Given the description of an element on the screen output the (x, y) to click on. 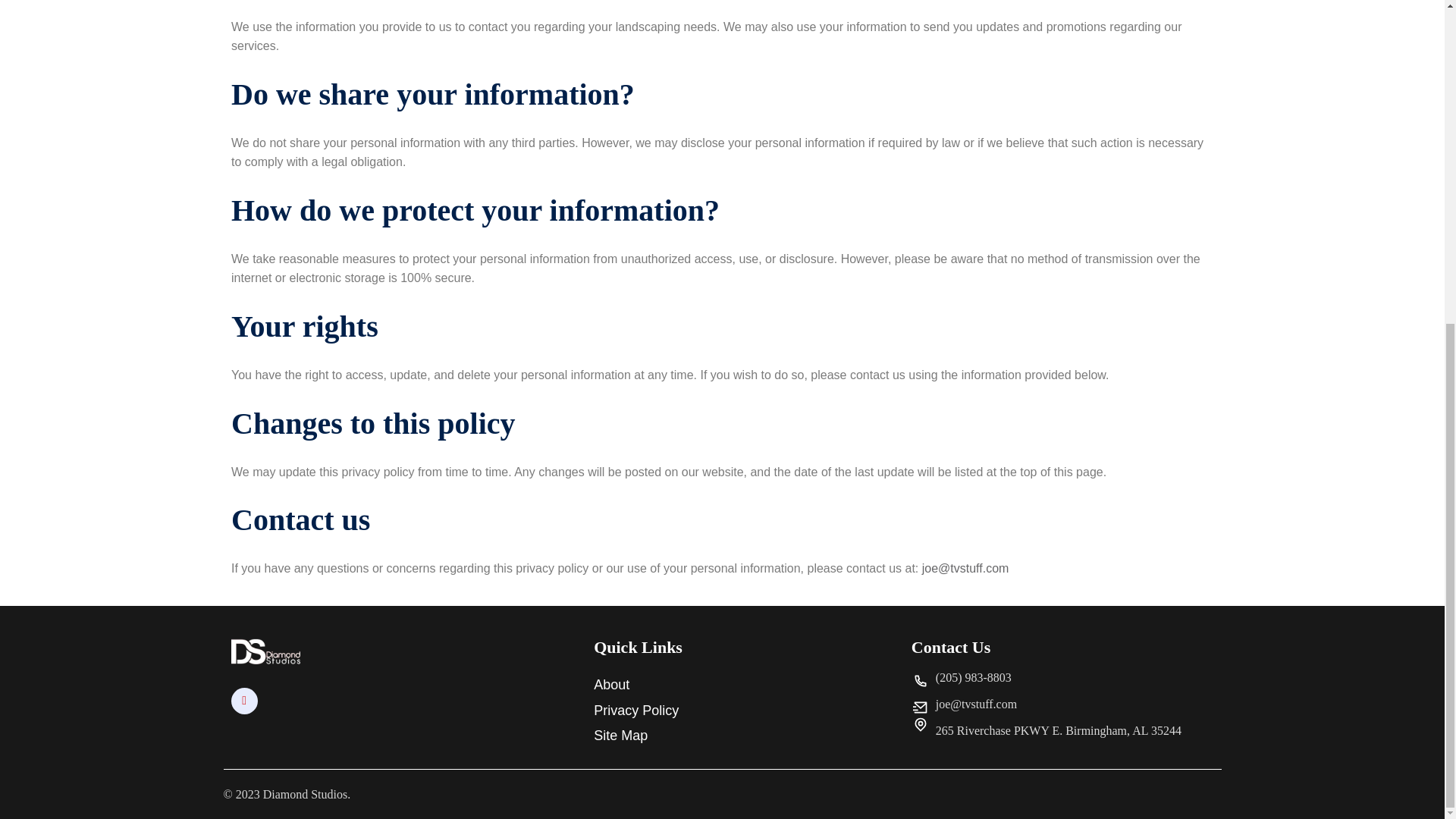
Privacy Policy (737, 710)
About (737, 685)
Site Map (737, 735)
